Given the description of an element on the screen output the (x, y) to click on. 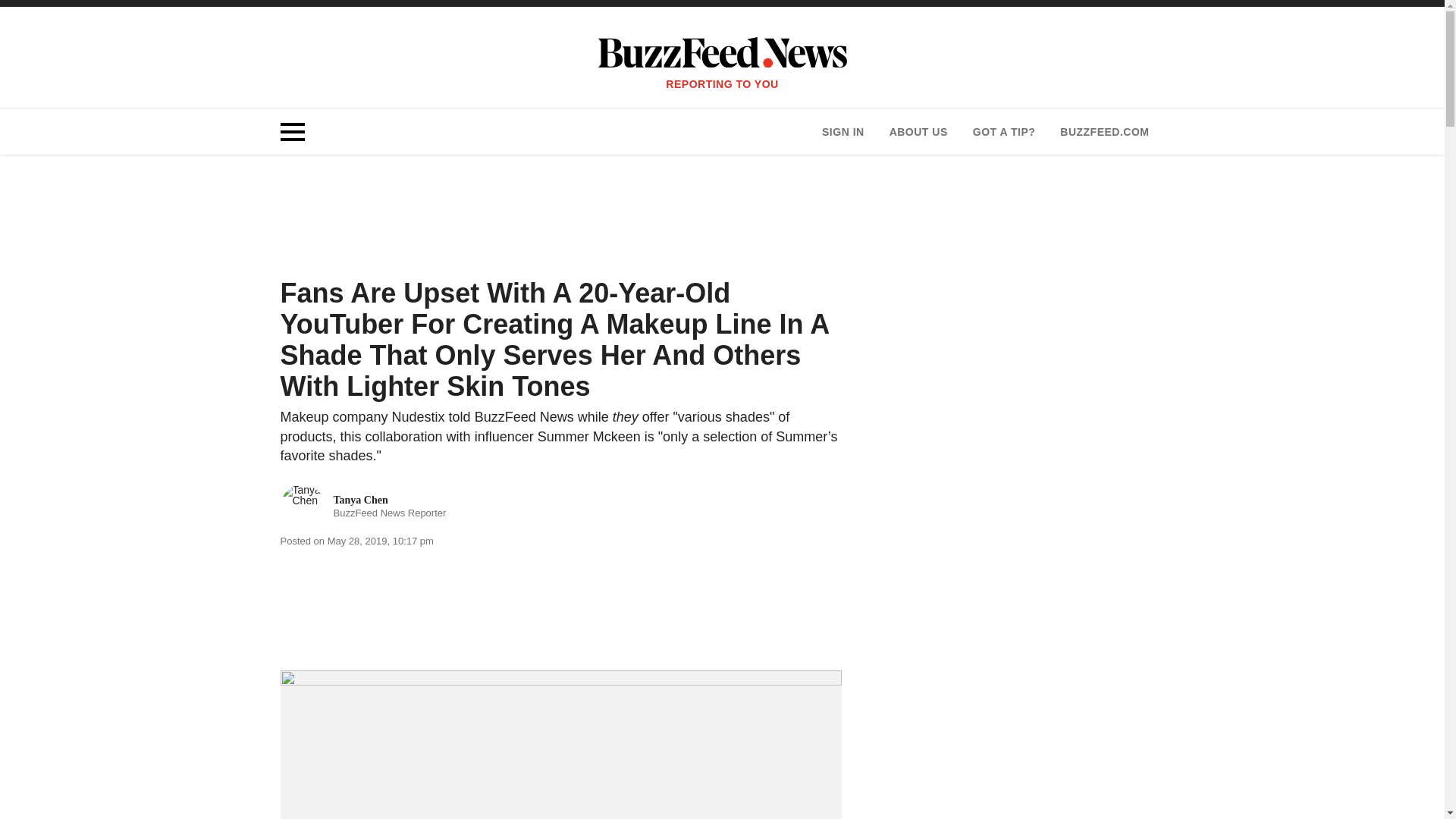
SIGN IN (842, 131)
GOT A TIP? (1003, 131)
ABOUT US (917, 131)
BUZZFEED.COM (363, 506)
